Given the description of an element on the screen output the (x, y) to click on. 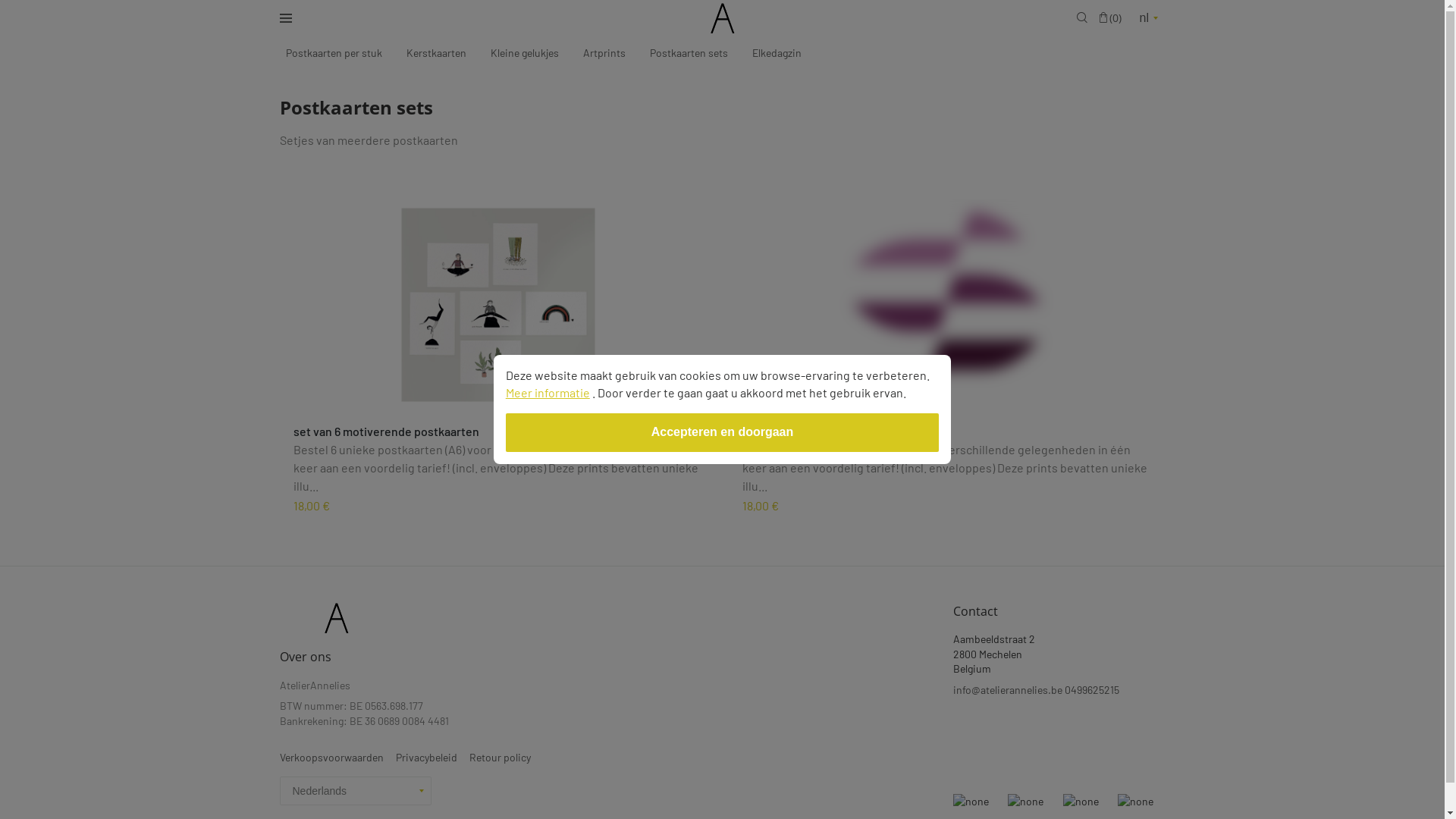
Accepteren en doorgaan Element type: text (722, 432)
Artprints Element type: text (603, 52)
Kerstkaarten Element type: text (436, 52)
Verkoopsvoorwaarden Element type: text (330, 757)
0499625215 Element type: text (1091, 686)
Kleine gelukjes Element type: text (523, 52)
info@atelierannelies.be Element type: text (1006, 686)
Postkaarten sets Element type: text (688, 52)
(0) Element type: text (1110, 17)
Meer informatie Element type: text (547, 392)
Privacybeleid Element type: text (426, 757)
Retour policy Element type: text (499, 757)
Elkedagzin Element type: text (776, 52)
Postkaarten per stuk Element type: text (333, 52)
